Given the description of an element on the screen output the (x, y) to click on. 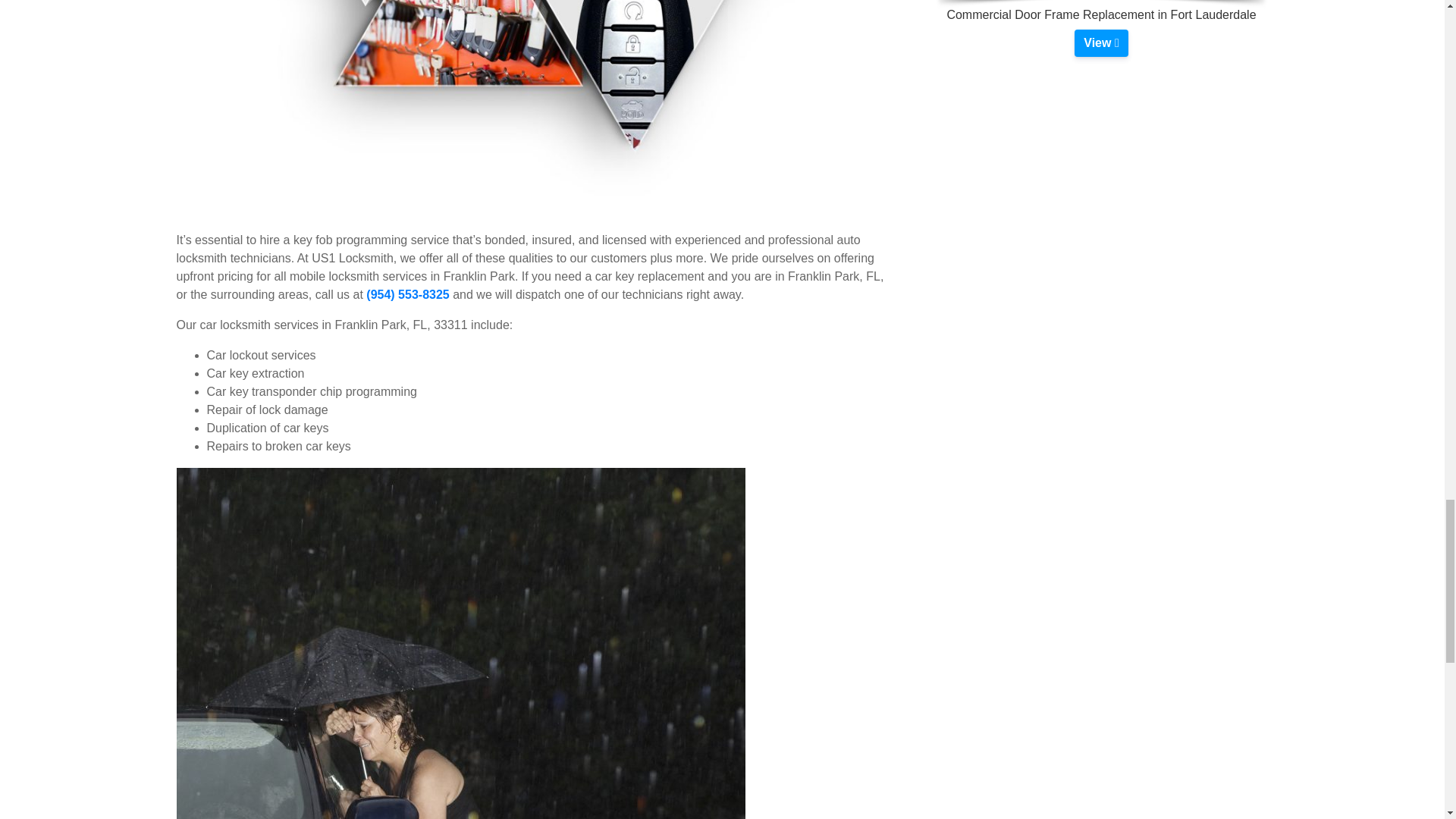
Commercial Door Frame Replacement in Fort Lauderdale (1100, 42)
View (1100, 42)
